Given the description of an element on the screen output the (x, y) to click on. 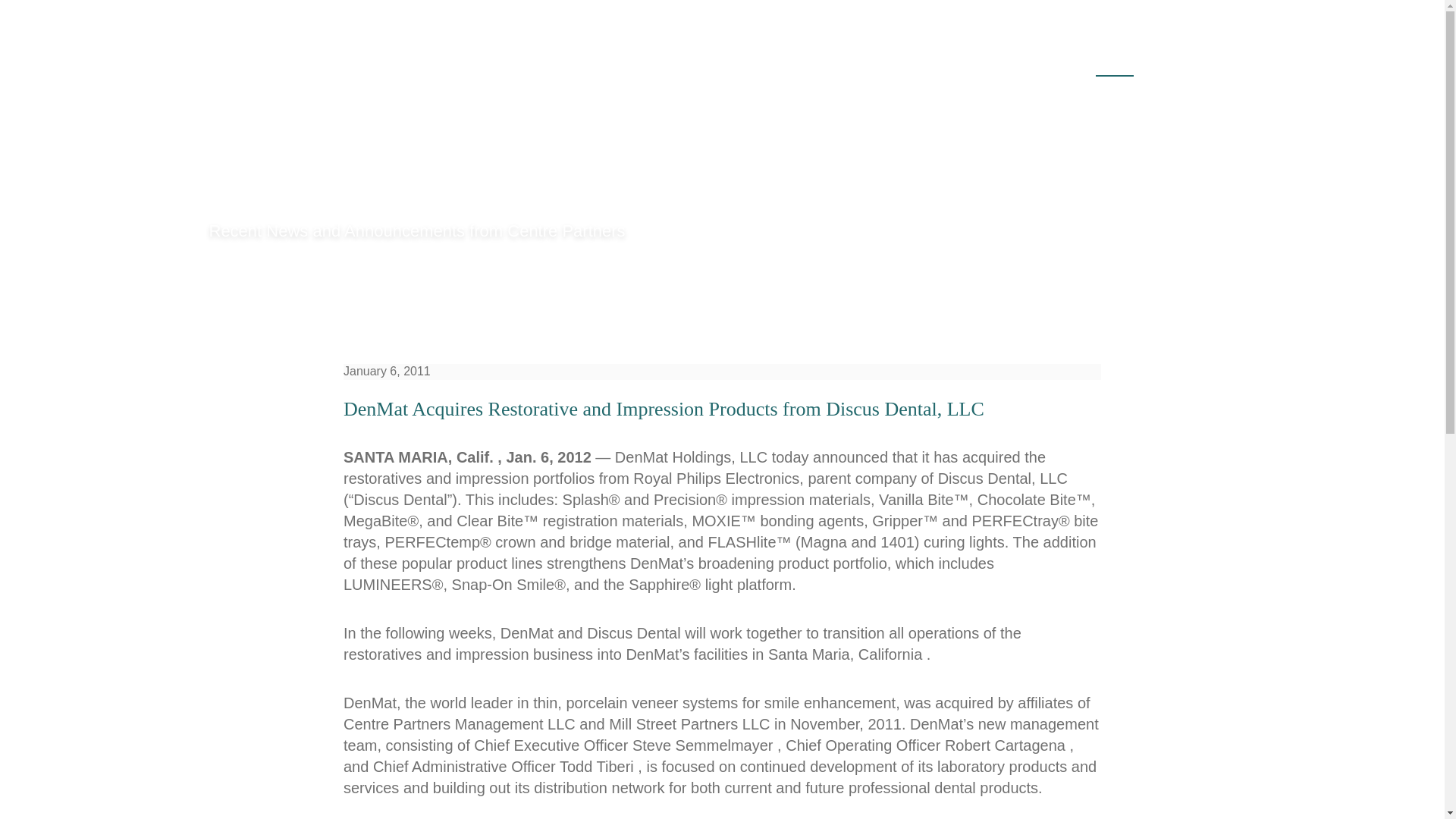
Our Firm (734, 61)
Our Portfolio (952, 61)
Our People (837, 61)
News (1115, 61)
ESG (1046, 61)
Contact (1192, 61)
